Given the description of an element on the screen output the (x, y) to click on. 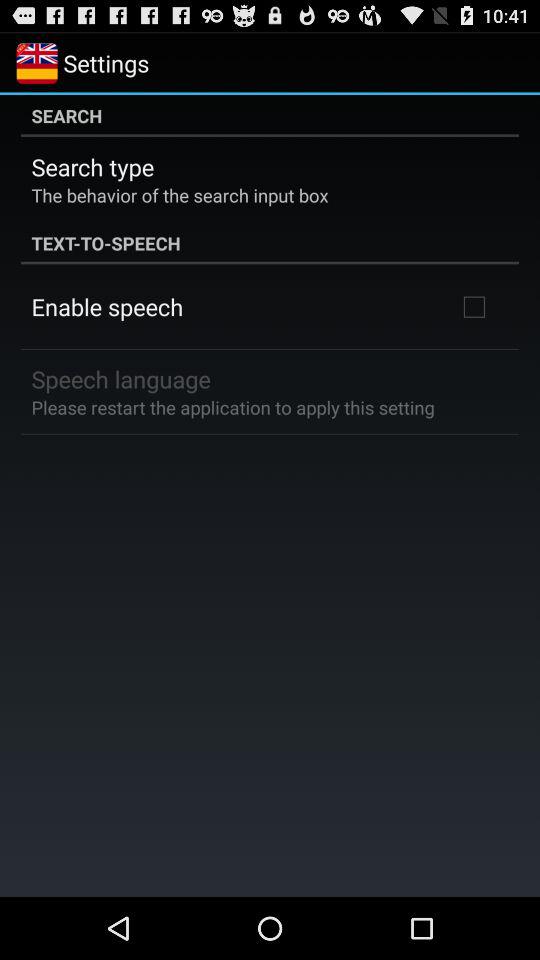
tap icon below the text-to-speech app (474, 306)
